Given the description of an element on the screen output the (x, y) to click on. 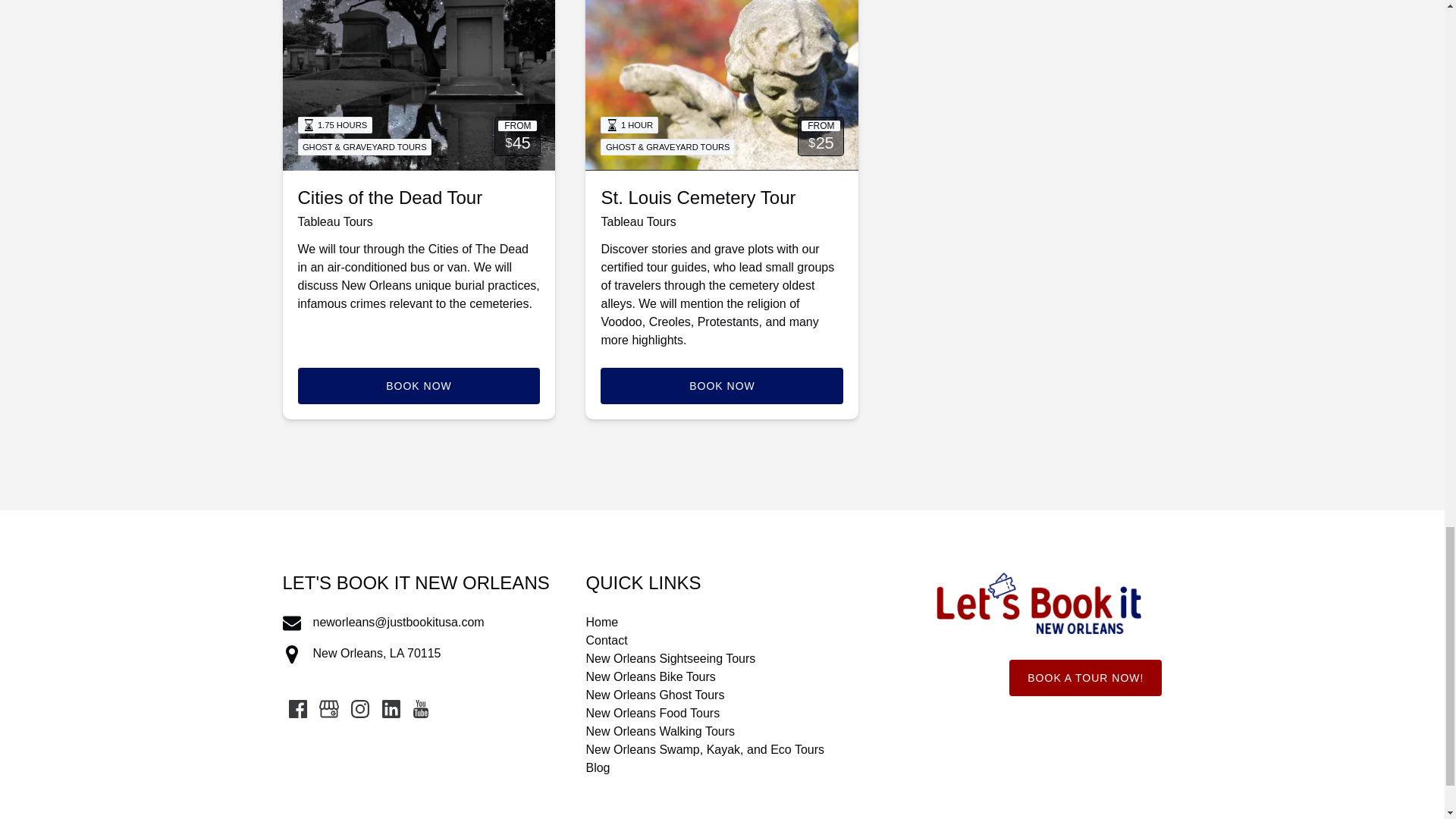
Envelope (290, 623)
Map Marker (290, 654)
